Given the description of an element on the screen output the (x, y) to click on. 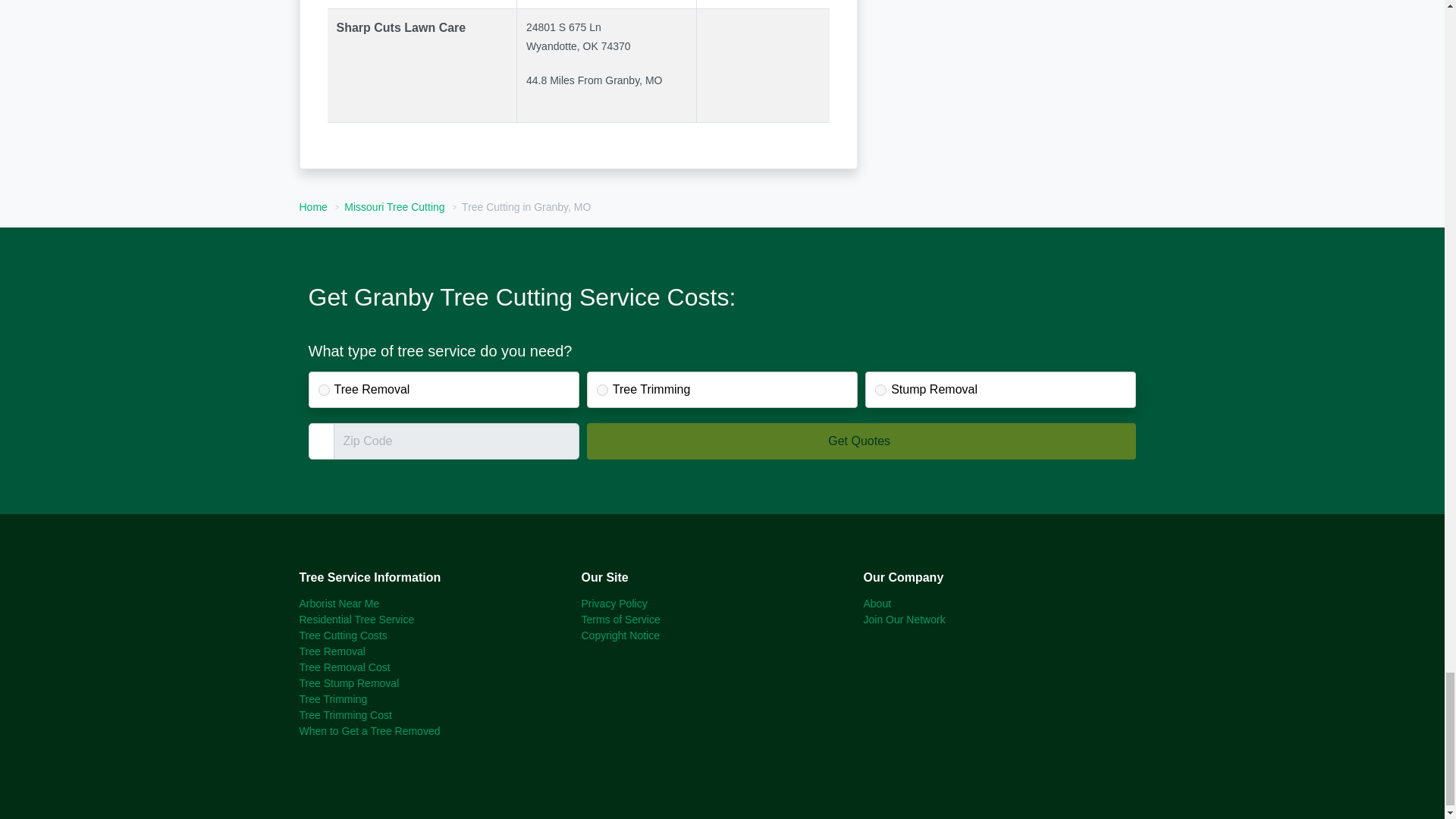
Tree Trimming (602, 389)
Tree Removal (324, 389)
About (877, 603)
Arborist Near Me (338, 603)
Home (312, 206)
Stump Removal (880, 389)
Tree Stump Removal (348, 683)
Join Our Network (903, 619)
When to Get a Tree Removed (368, 730)
Privacy Policy (613, 603)
